Given the description of an element on the screen output the (x, y) to click on. 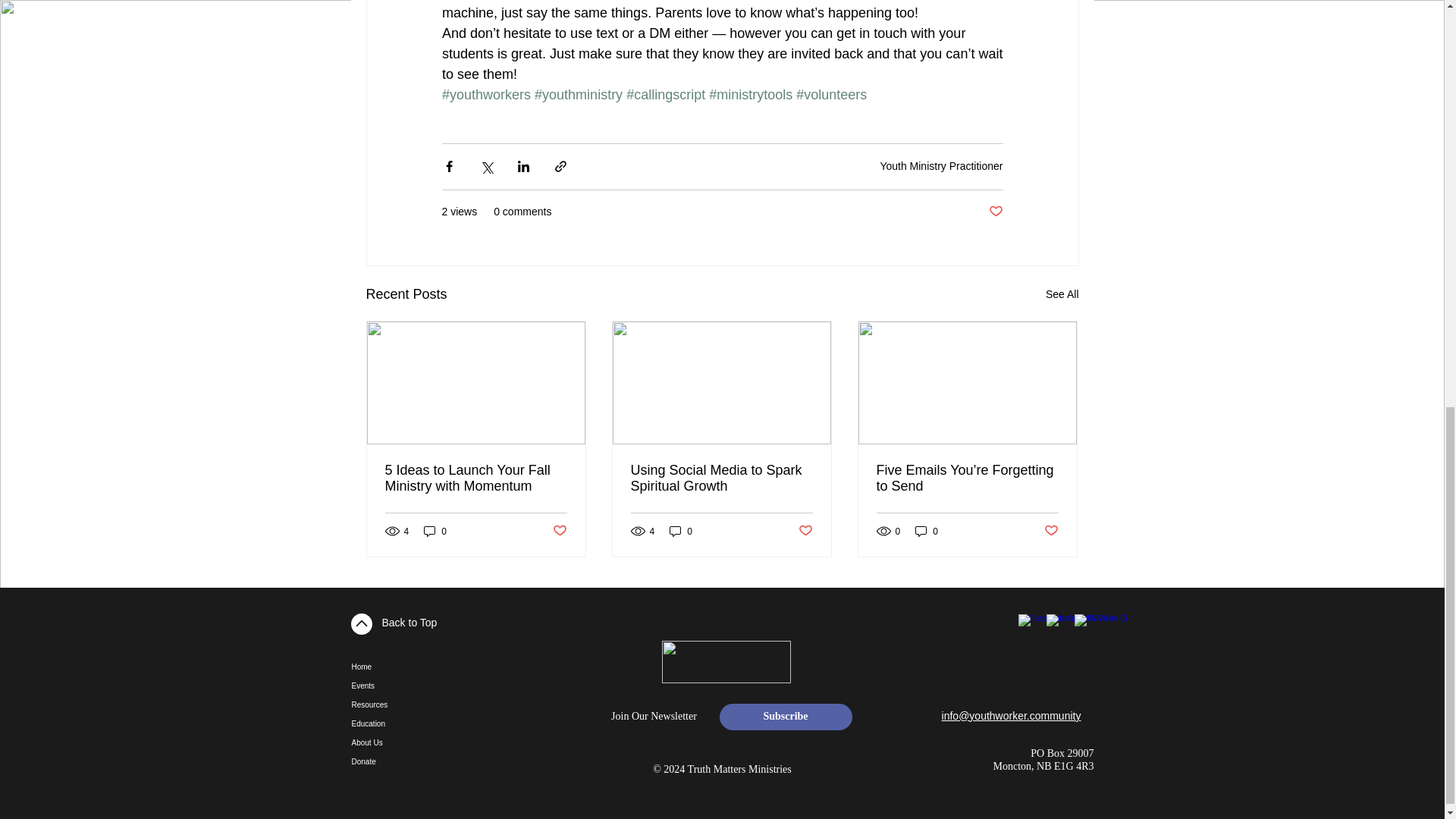
Youth Ministry Practitioner (941, 165)
0 (435, 531)
Post not marked as liked (995, 211)
See All (1061, 294)
5 Ideas to Launch Your Fall Ministry with Momentum (476, 478)
